Given the description of an element on the screen output the (x, y) to click on. 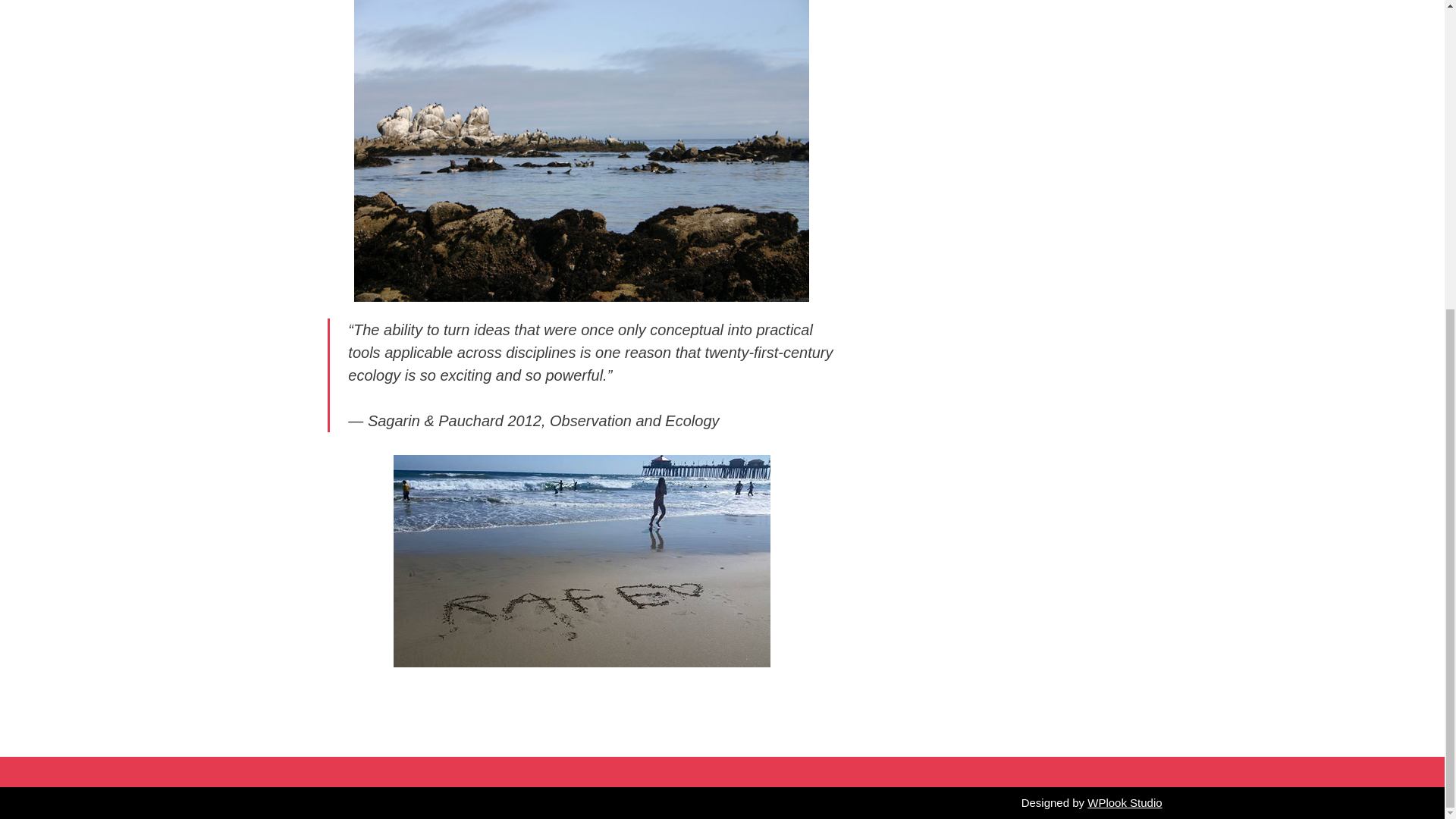
WPlook Studio (1124, 801)
WPlook Studio (1124, 801)
